Given the description of an element on the screen output the (x, y) to click on. 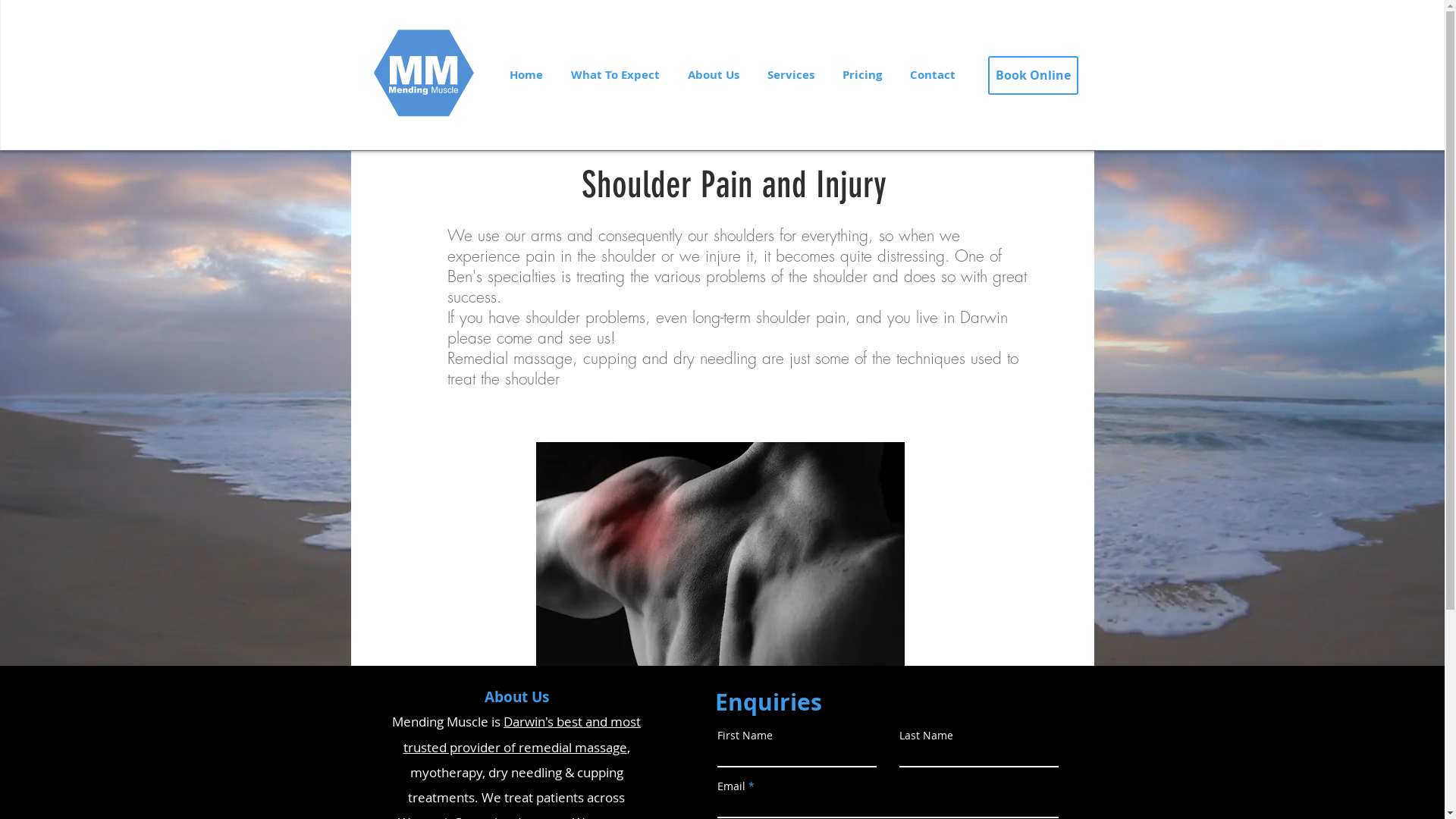
Darwin's best and most trusted provider of remedial massage Element type: text (522, 733)
Contact Element type: text (932, 74)
Home Element type: text (525, 74)
What To Expect Element type: text (614, 74)
Untitled design (9).png Element type: hover (423, 69)
Pricing Element type: text (861, 74)
Book Online Element type: text (1032, 75)
About Us Element type: text (713, 74)
